Given the description of an element on the screen output the (x, y) to click on. 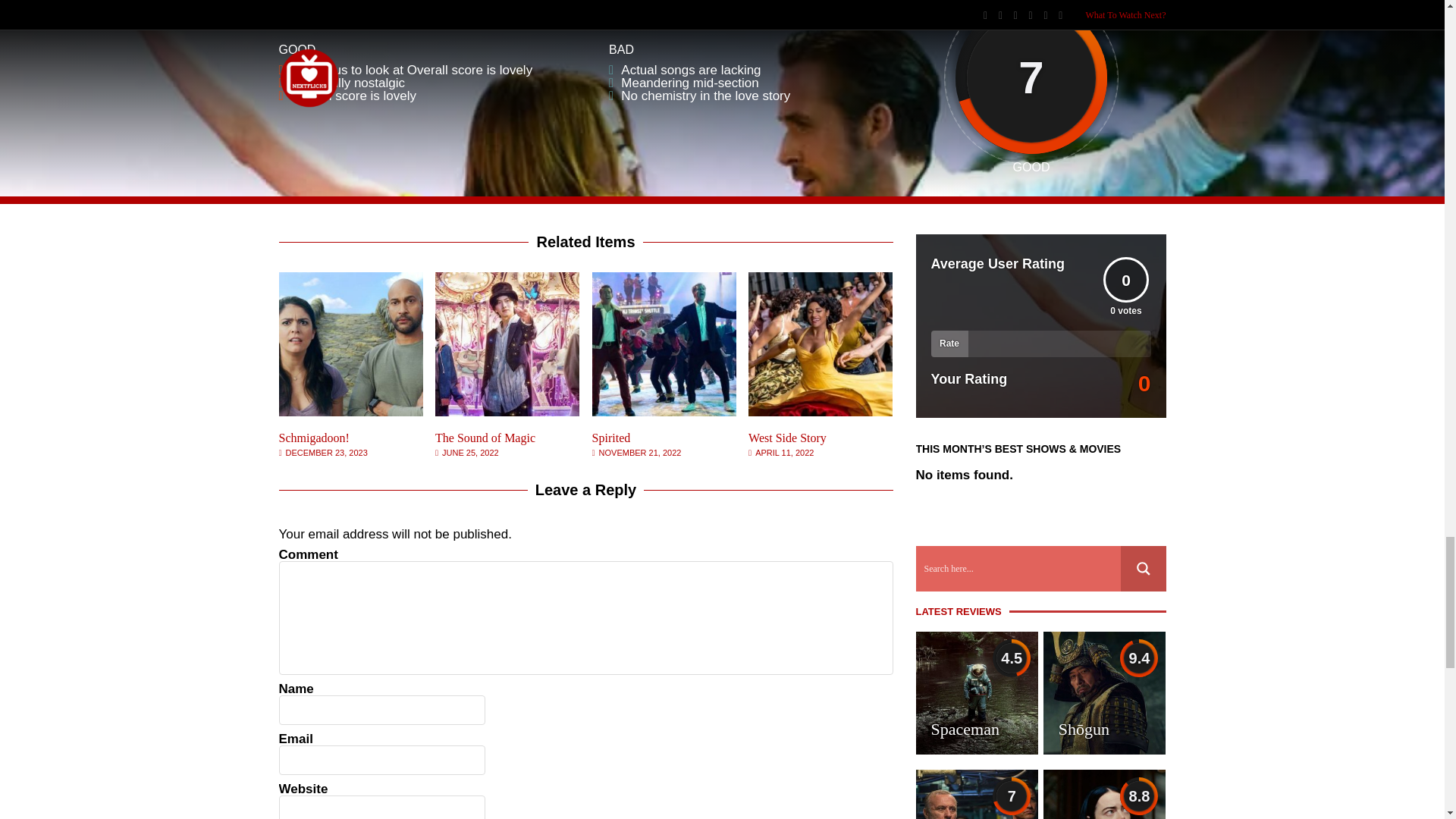
Schmigadoon! (351, 411)
The Sound of Magic (485, 437)
The Sound of Magic (507, 411)
Schmigadoon! (314, 437)
